Given the description of an element on the screen output the (x, y) to click on. 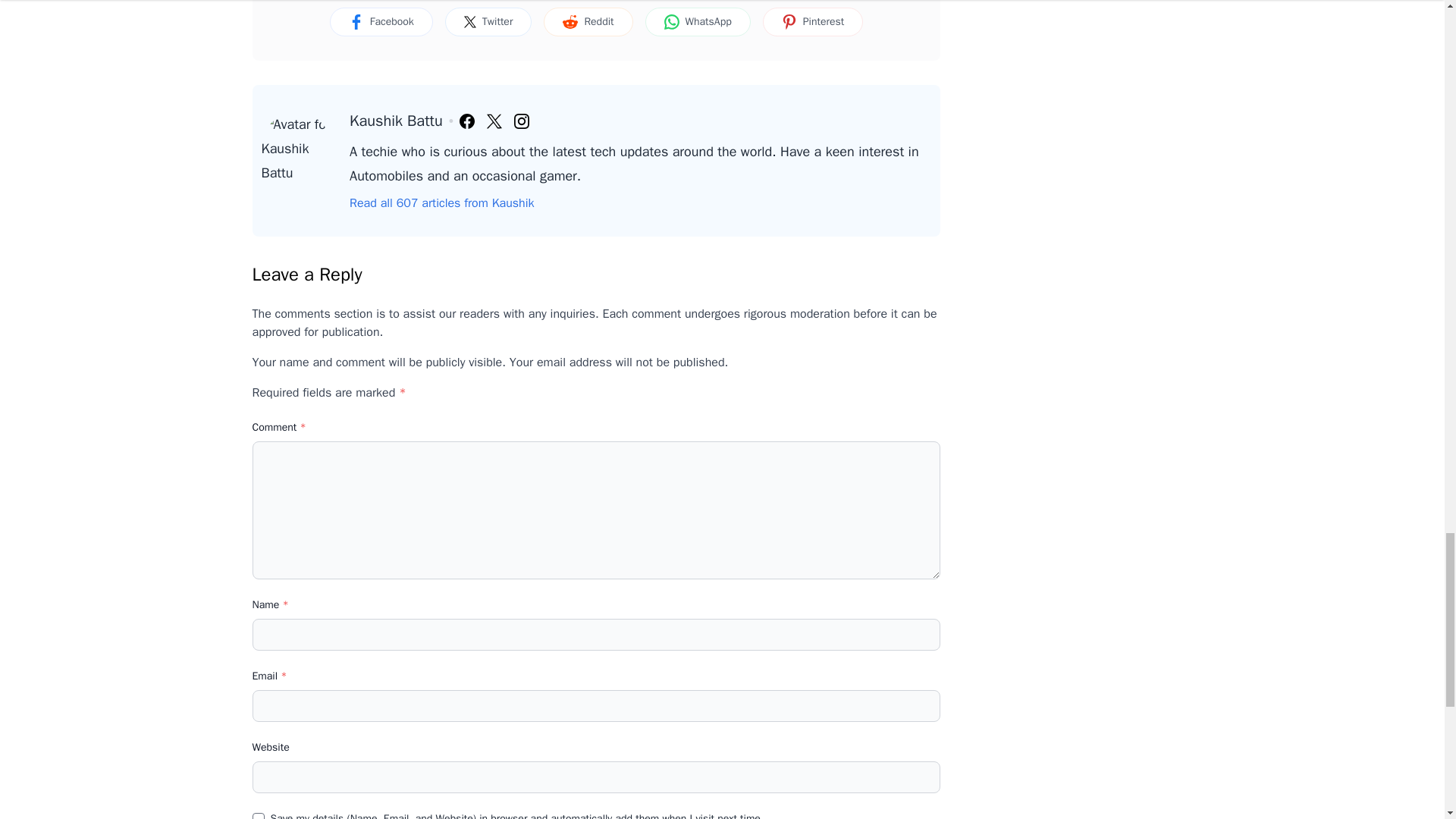
Twitter (488, 21)
Facebook (381, 21)
Reddit (587, 21)
WhatsApp (698, 21)
yes (257, 816)
Pinterest (812, 21)
